Given the description of an element on the screen output the (x, y) to click on. 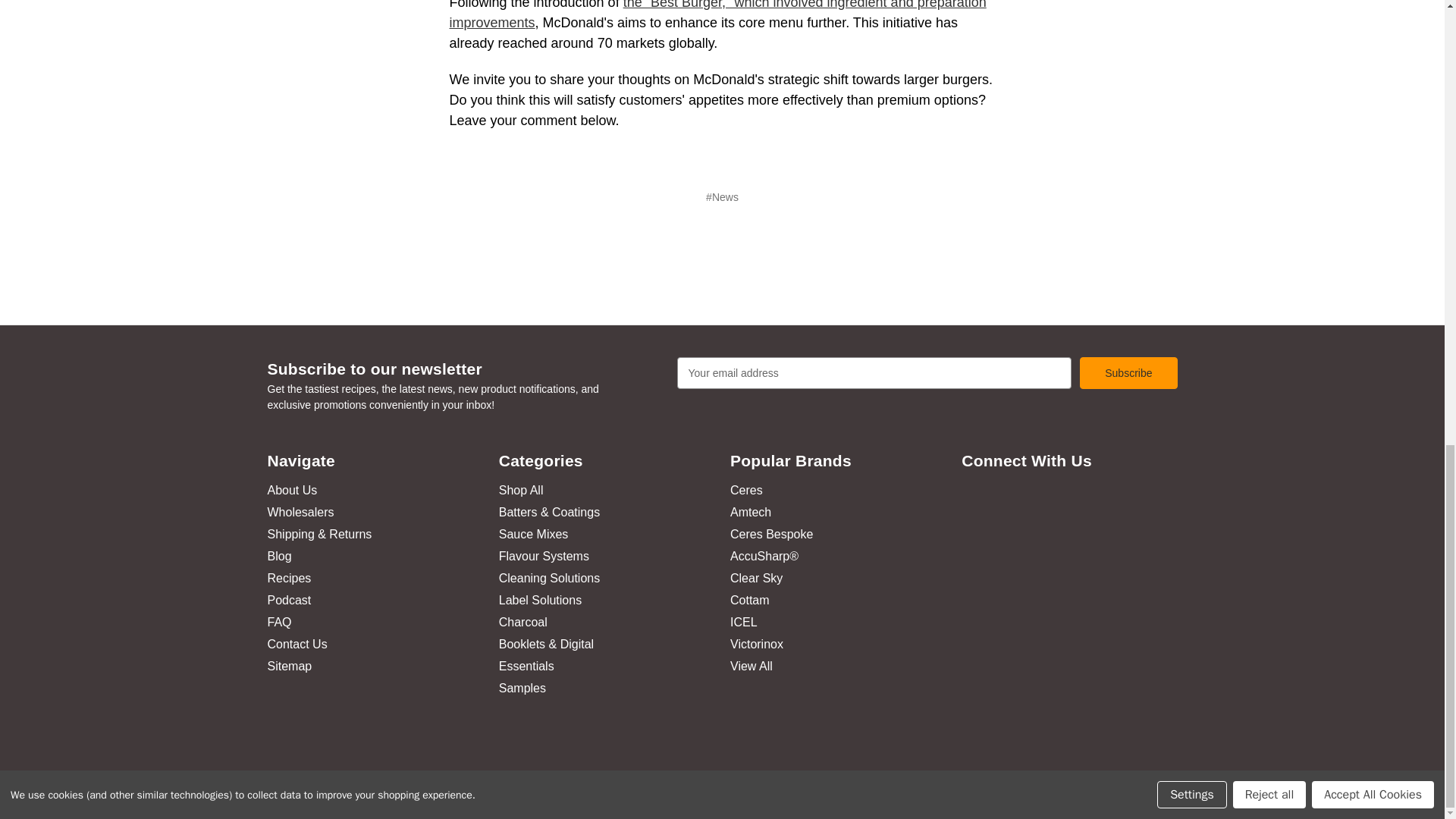
Wholesalers (299, 512)
Facebook (996, 498)
American Express (305, 752)
Subscribe (1128, 373)
Instagram (1051, 498)
X (968, 498)
Youtube (1024, 498)
Visa (442, 752)
About Us (291, 490)
Rss (1078, 498)
